Given the description of an element on the screen output the (x, y) to click on. 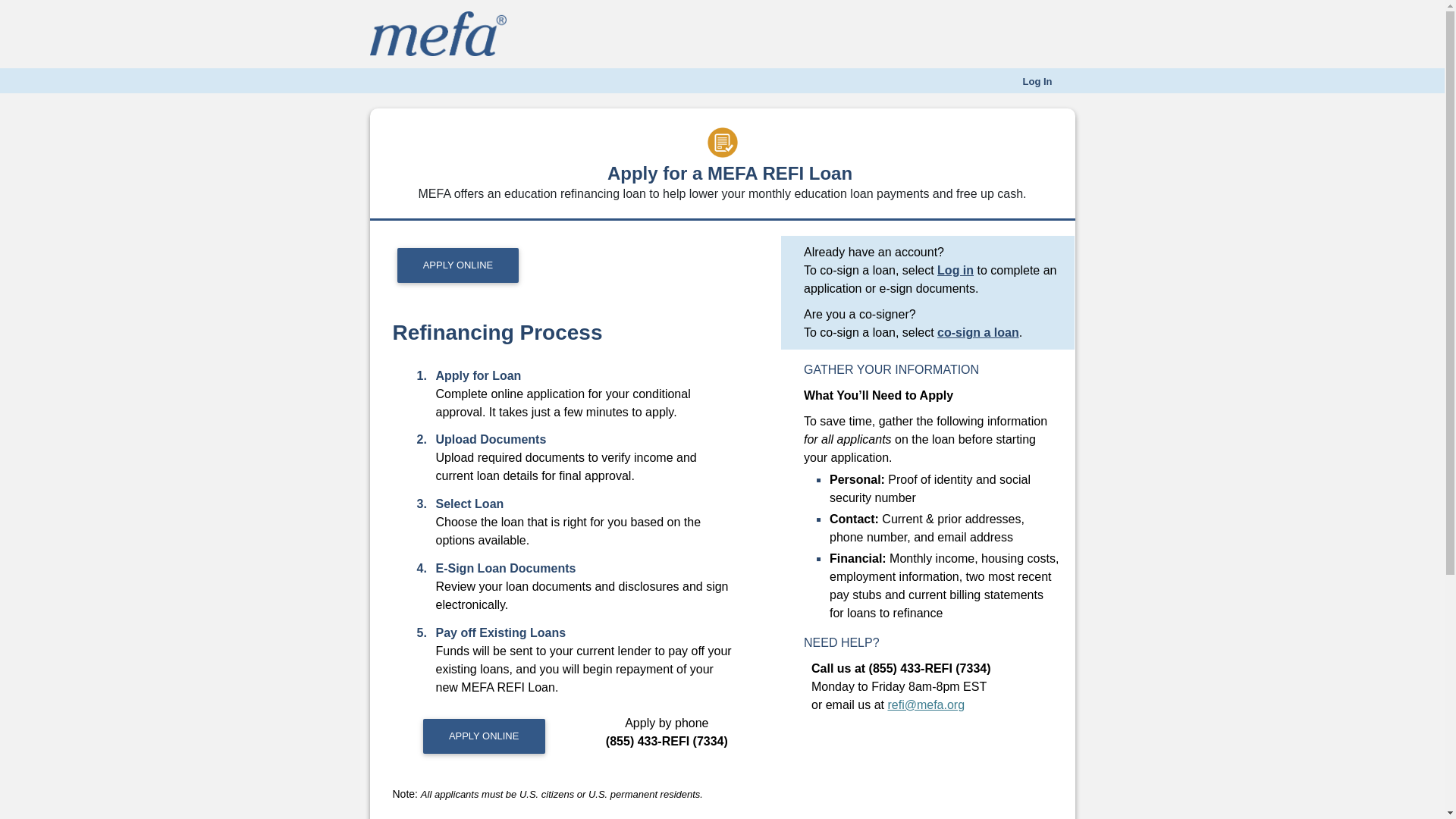
co-sign a loan (978, 332)
Log in (955, 269)
APPLY ONLINE (483, 736)
APPLY ONLINE (458, 265)
Log In (1037, 81)
